Given the description of an element on the screen output the (x, y) to click on. 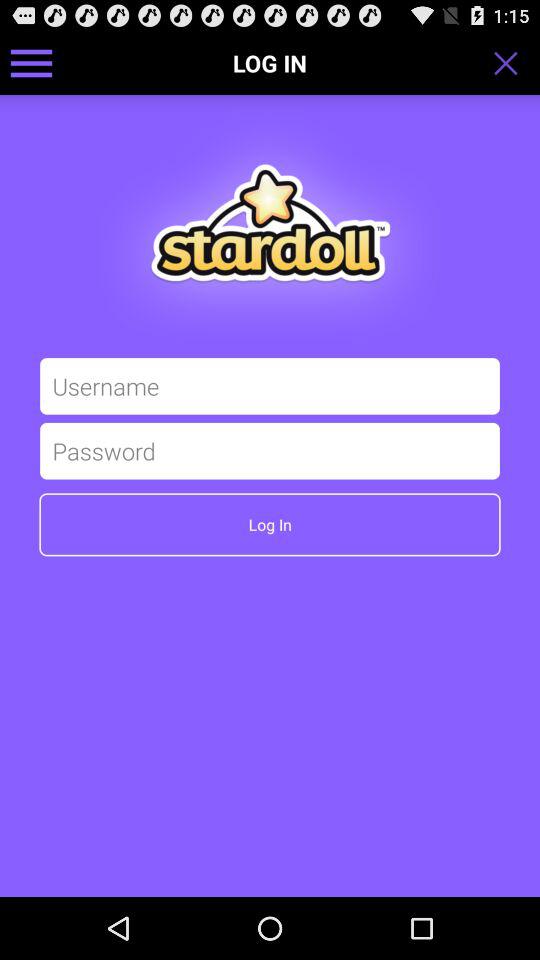
choose app next to the log in (512, 62)
